Given the description of an element on the screen output the (x, y) to click on. 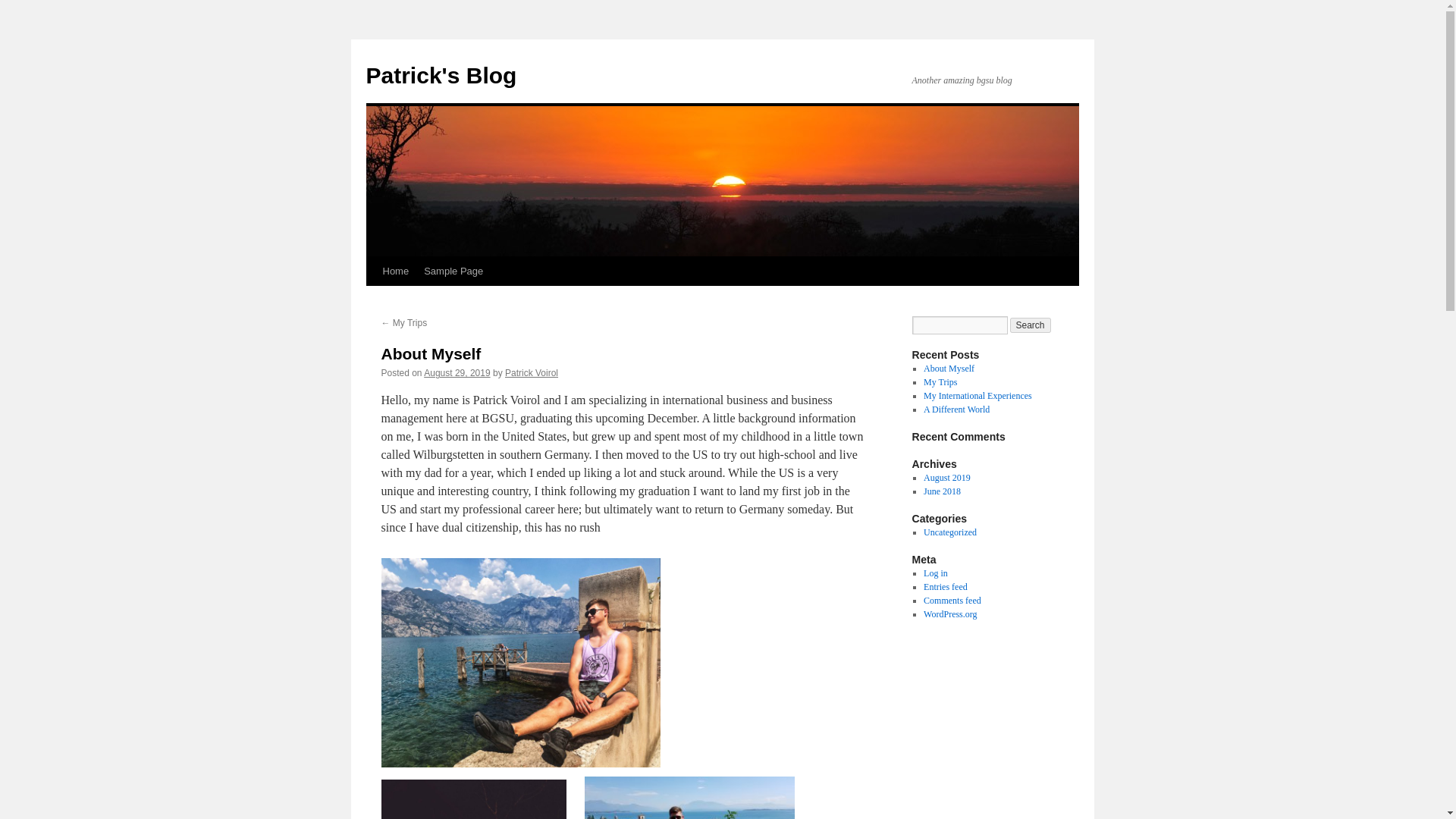
About Myself (948, 368)
View all posts by Patrick Voirol (531, 372)
August 29, 2019 (456, 372)
Sample Page (453, 271)
My International Experiences (977, 395)
My Trips (939, 381)
Search (1030, 324)
Patrick's Blog (440, 75)
Comments feed (952, 600)
June 2018 (941, 491)
WordPress.org (949, 614)
3:07 pm (456, 372)
Patrick Voirol (531, 372)
A Different World (956, 409)
Search (1030, 324)
